Given the description of an element on the screen output the (x, y) to click on. 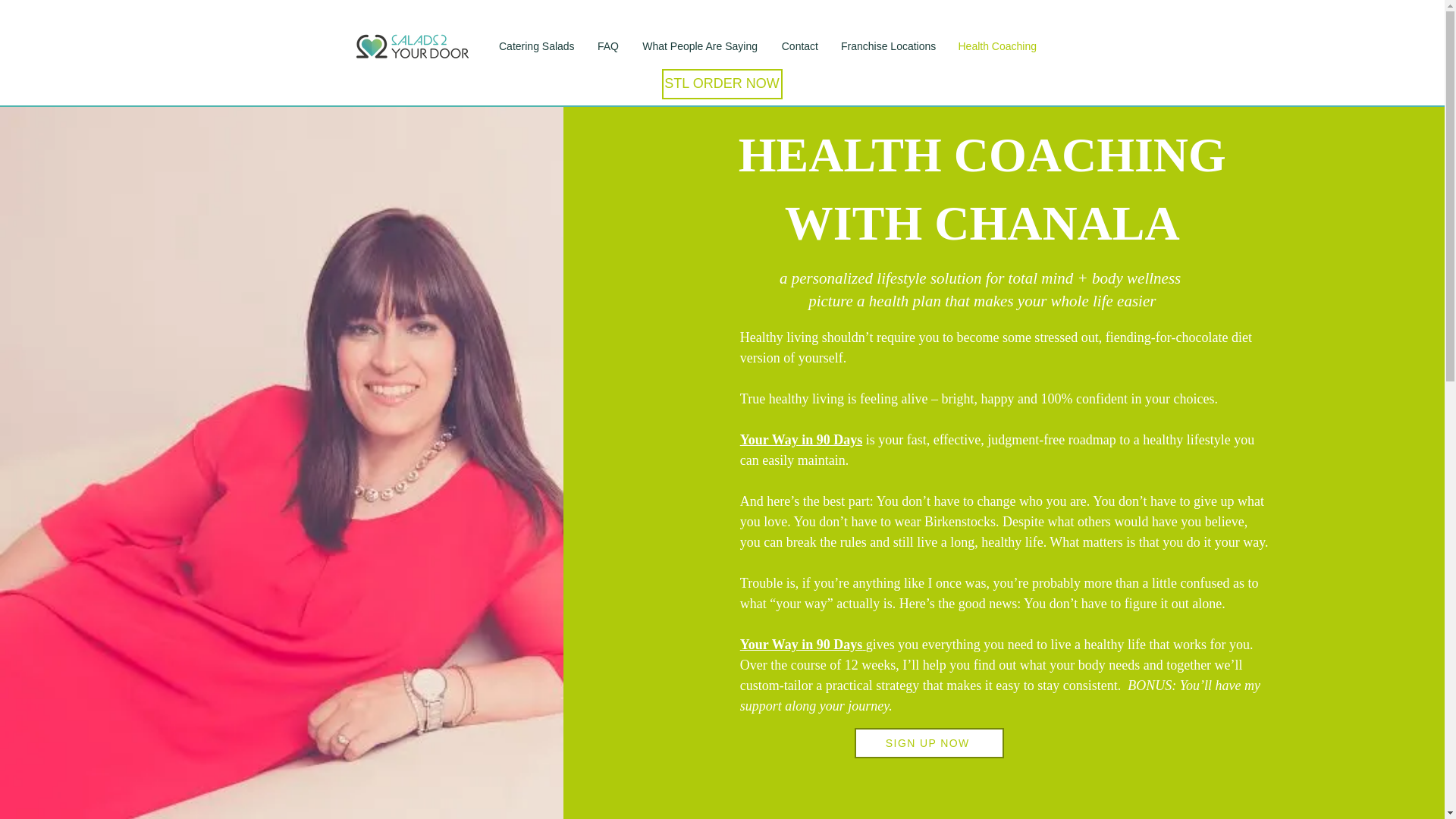
What People Are Saying (699, 46)
FAQ (607, 46)
SIGN UP NOW (929, 743)
Catering Salads (536, 46)
Franchise Locations (886, 46)
Your Way in 90 Days (802, 644)
Your Way in 90 Days (800, 439)
Health Coaching (996, 46)
STL ORDER NOW (721, 83)
Contact (798, 46)
